Given the description of an element on the screen output the (x, y) to click on. 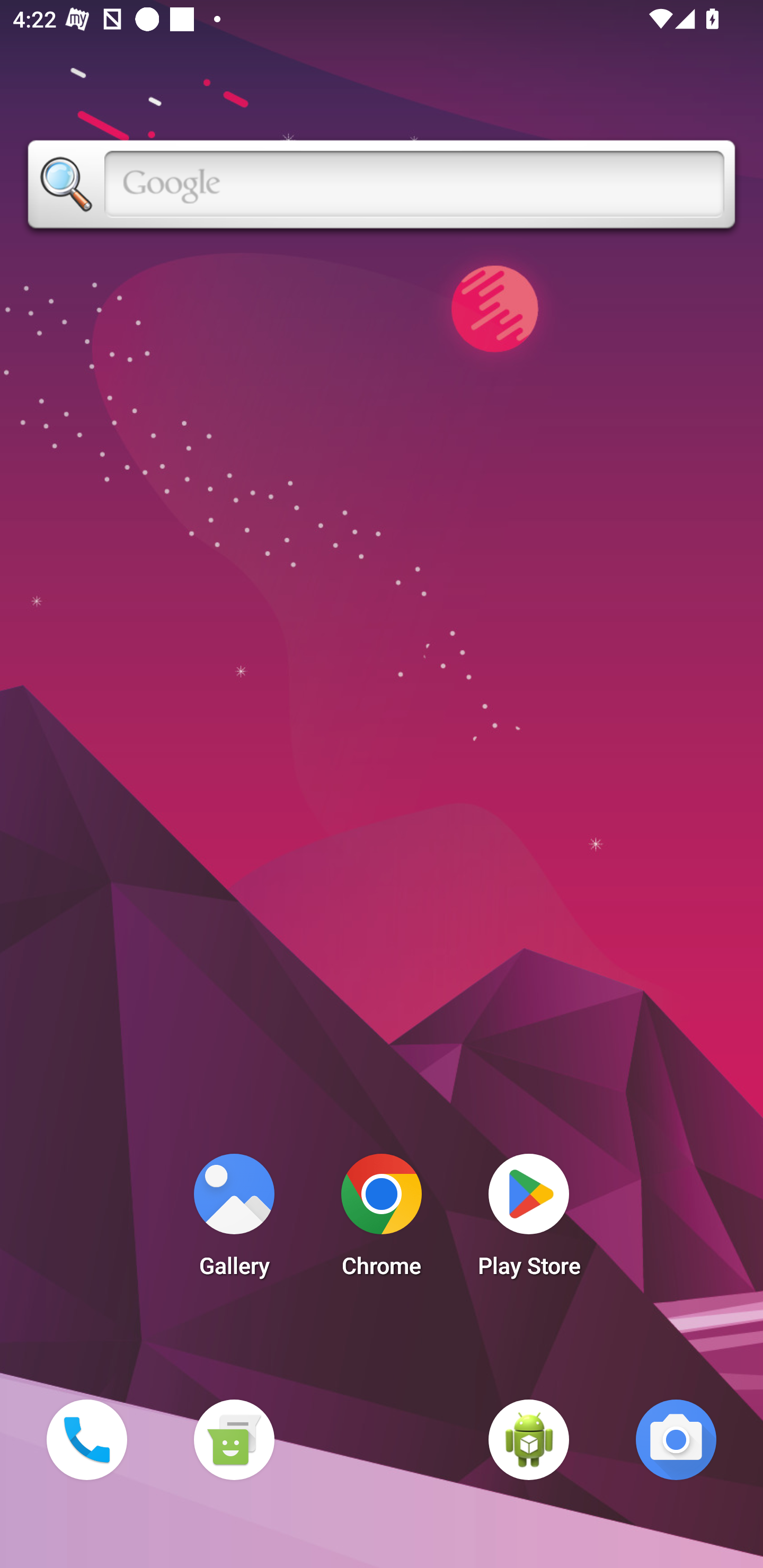
Gallery (233, 1220)
Chrome (381, 1220)
Play Store (528, 1220)
Phone (86, 1439)
Messaging (233, 1439)
WebView Browser Tester (528, 1439)
Camera (676, 1439)
